Given the description of an element on the screen output the (x, y) to click on. 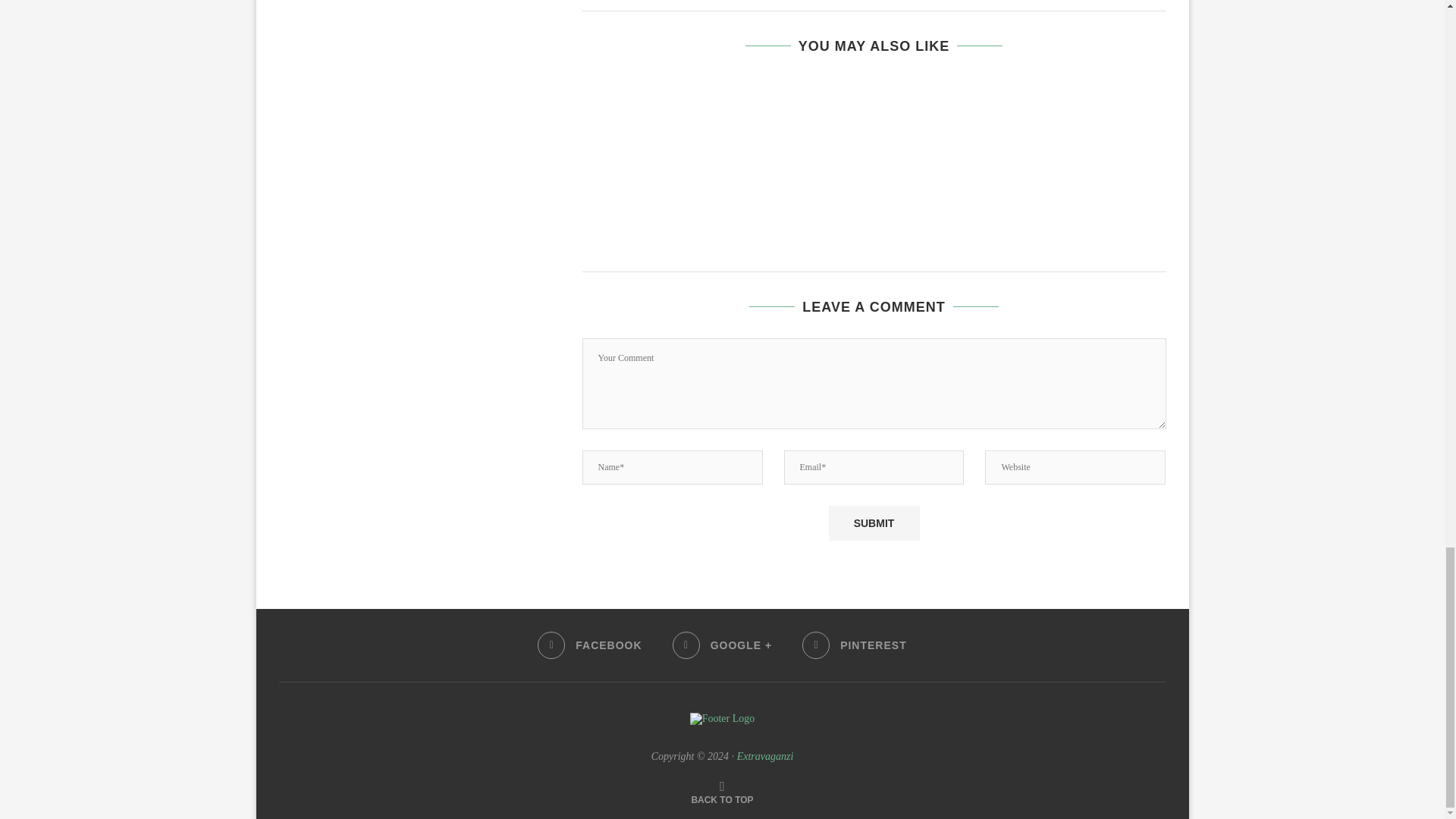
Submit (873, 523)
